Given the description of an element on the screen output the (x, y) to click on. 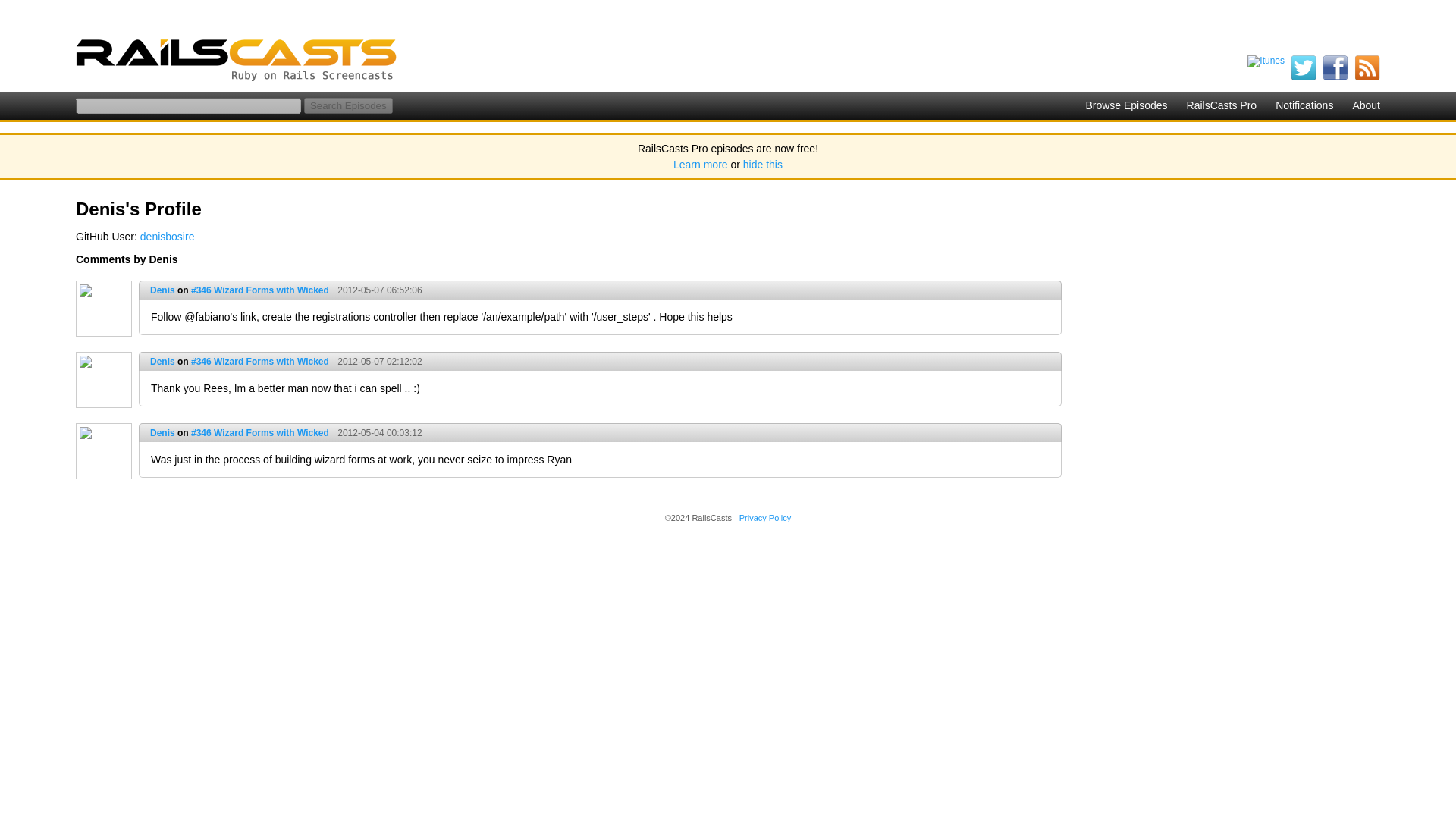
Denis (161, 290)
Browse Episodes (1125, 105)
Denis (161, 432)
Notifications (1304, 105)
2012-05-07 06:52:06 (376, 290)
Learn more (700, 164)
2012-05-04 00:03:12 (376, 432)
RailsCasts Pro (1221, 105)
About (1366, 105)
Search Episodes (348, 105)
hide this (762, 164)
Search Episodes (348, 105)
Denis (161, 361)
2012-05-07 02:12:02 (376, 361)
denisbosire (167, 236)
